Given the description of an element on the screen output the (x, y) to click on. 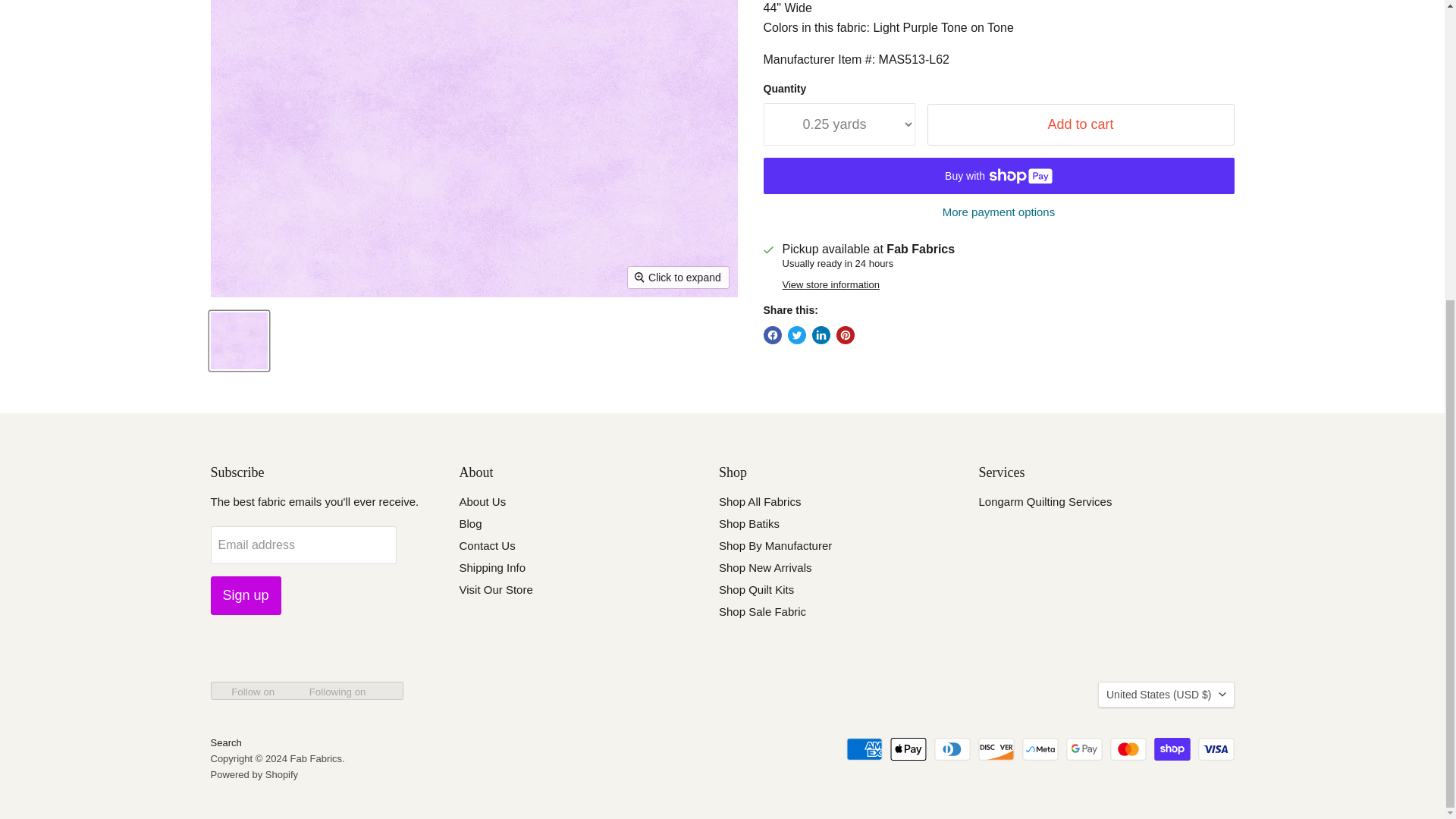
Discover (996, 748)
Diners Club (952, 748)
Apple Pay (907, 748)
American Express (863, 748)
